Given the description of an element on the screen output the (x, y) to click on. 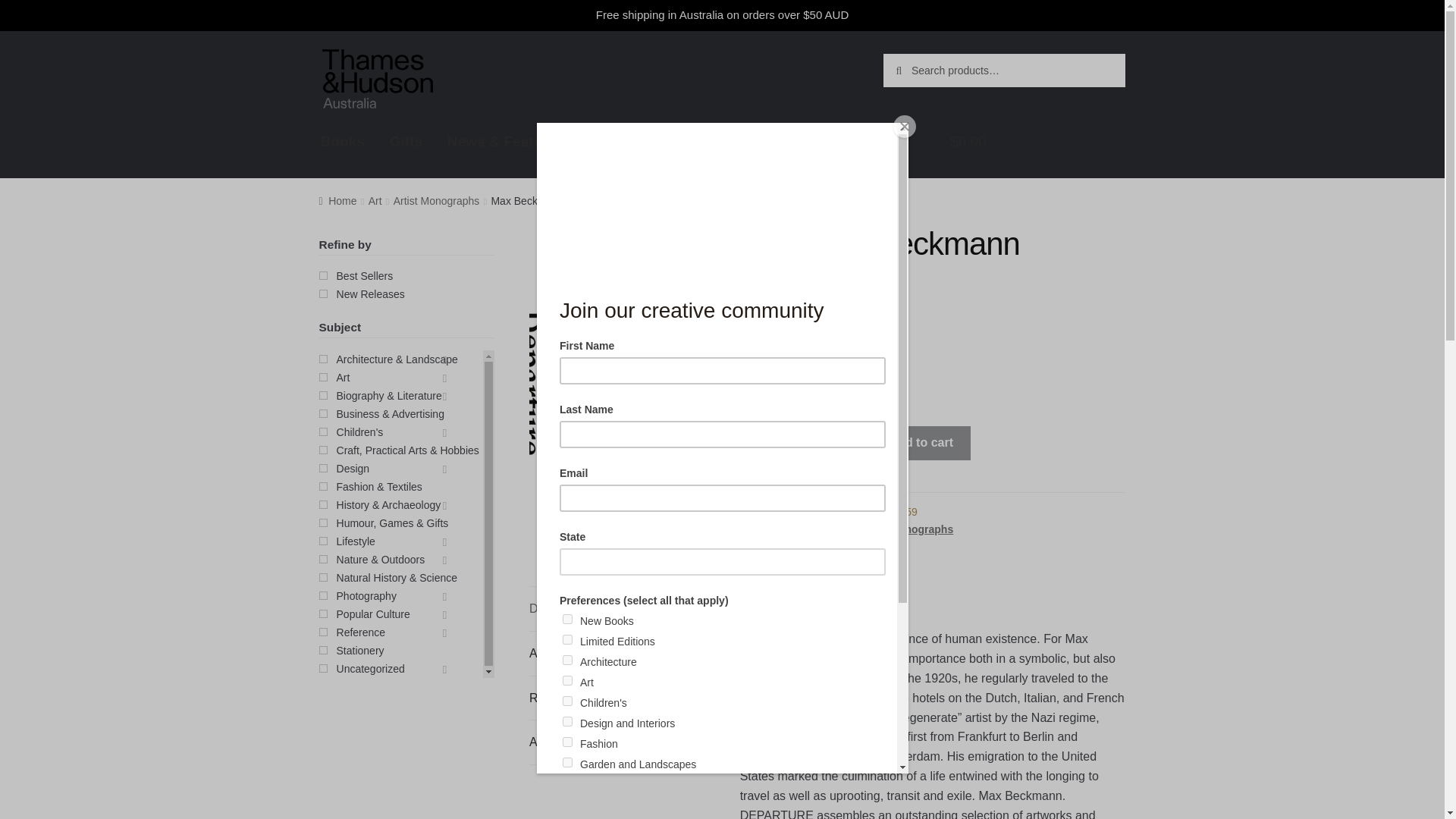
Art (374, 200)
Description (616, 608)
View your shopping cart (1037, 147)
Additional information (616, 653)
Artist Monographs (436, 200)
Add to cart (921, 443)
Artist Monographs (906, 529)
Search (916, 69)
About (609, 140)
Books (342, 140)
